Given the description of an element on the screen output the (x, y) to click on. 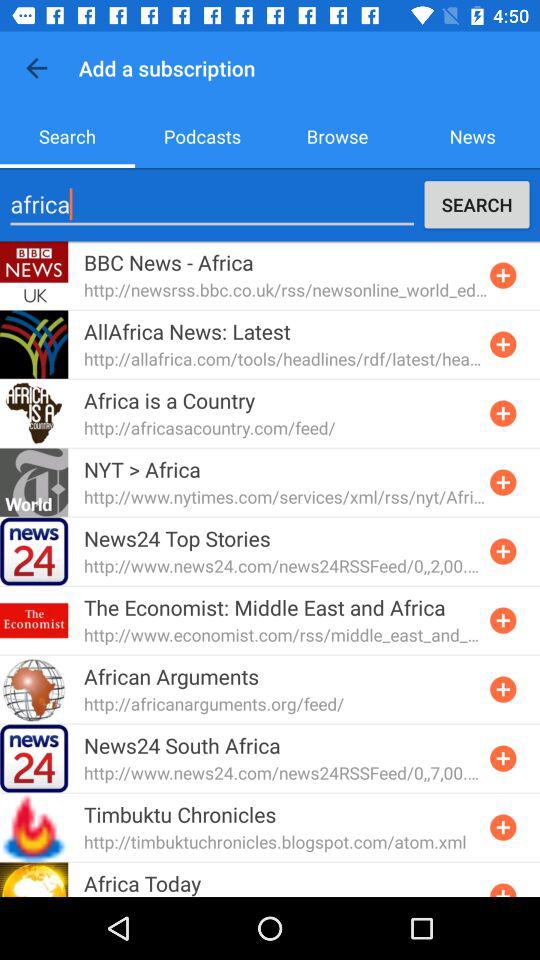
switch include option (503, 275)
